Given the description of an element on the screen output the (x, y) to click on. 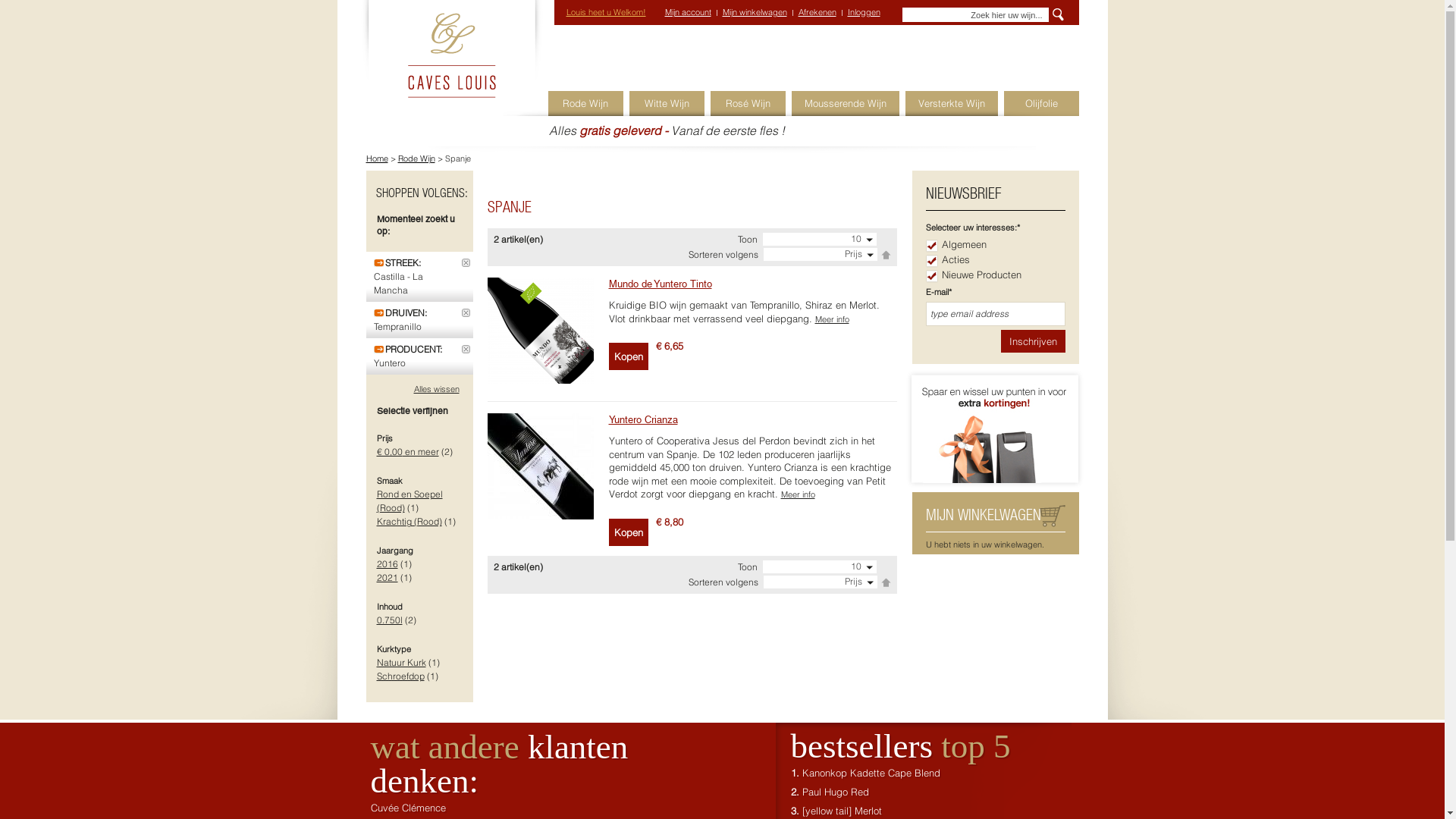
Zoeken Element type: hover (1056, 14)
Meer info Element type: text (831, 318)
Caves Louis Element type: hover (449, 49)
Rond en Soepel (Rood) Element type: text (409, 500)
Dit artikel verwijderen Element type: text (465, 312)
Olijfolie Element type: text (1041, 103)
Meer info Element type: text (798, 494)
Kanonkop Kadette Cape Blend Element type: text (871, 772)
Home Element type: text (376, 158)
Dit artikel verwijderen Element type: text (465, 262)
2021 Element type: text (386, 577)
Van hoog naar laag sorteren Element type: hover (886, 254)
[yellow tail] Merlot Element type: text (841, 810)
Yuntero Crianza Element type: text (642, 419)
Mijn account Element type: text (687, 11)
Kopen Element type: text (627, 532)
Versterkte Wijn Element type: text (951, 103)
Schroefdop Element type: text (399, 675)
Mundo de Yuntero Tinto Element type: hover (539, 330)
Rode Wijn Element type: text (415, 158)
Spaar punten voor extra kortingen bij CavesLouis! Element type: hover (994, 376)
2016 Element type: text (386, 563)
Inloggen Element type: text (863, 11)
Afrekenen Element type: text (816, 11)
Mundo de Yuntero Tinto Element type: text (659, 283)
Yuntero Crianza Element type: hover (539, 466)
Mijn winkelwagen Element type: text (753, 11)
Kopen Element type: text (627, 356)
Natuur Kurk Element type: text (400, 662)
Inschrijven Element type: text (1033, 340)
Witte Wijn Element type: text (666, 103)
Paul Hugo Red Element type: text (835, 791)
Rode Wijn Element type: text (584, 103)
Dit artikel verwijderen Element type: text (465, 349)
Alles wissen Element type: text (436, 388)
Louis heet u Welkom! Element type: text (605, 11)
Van hoog naar laag sorteren Element type: hover (886, 581)
Krachtig (Rood) Element type: text (408, 521)
Mousserende Wijn Element type: text (845, 103)
0.750l Element type: text (388, 619)
